Given the description of an element on the screen output the (x, y) to click on. 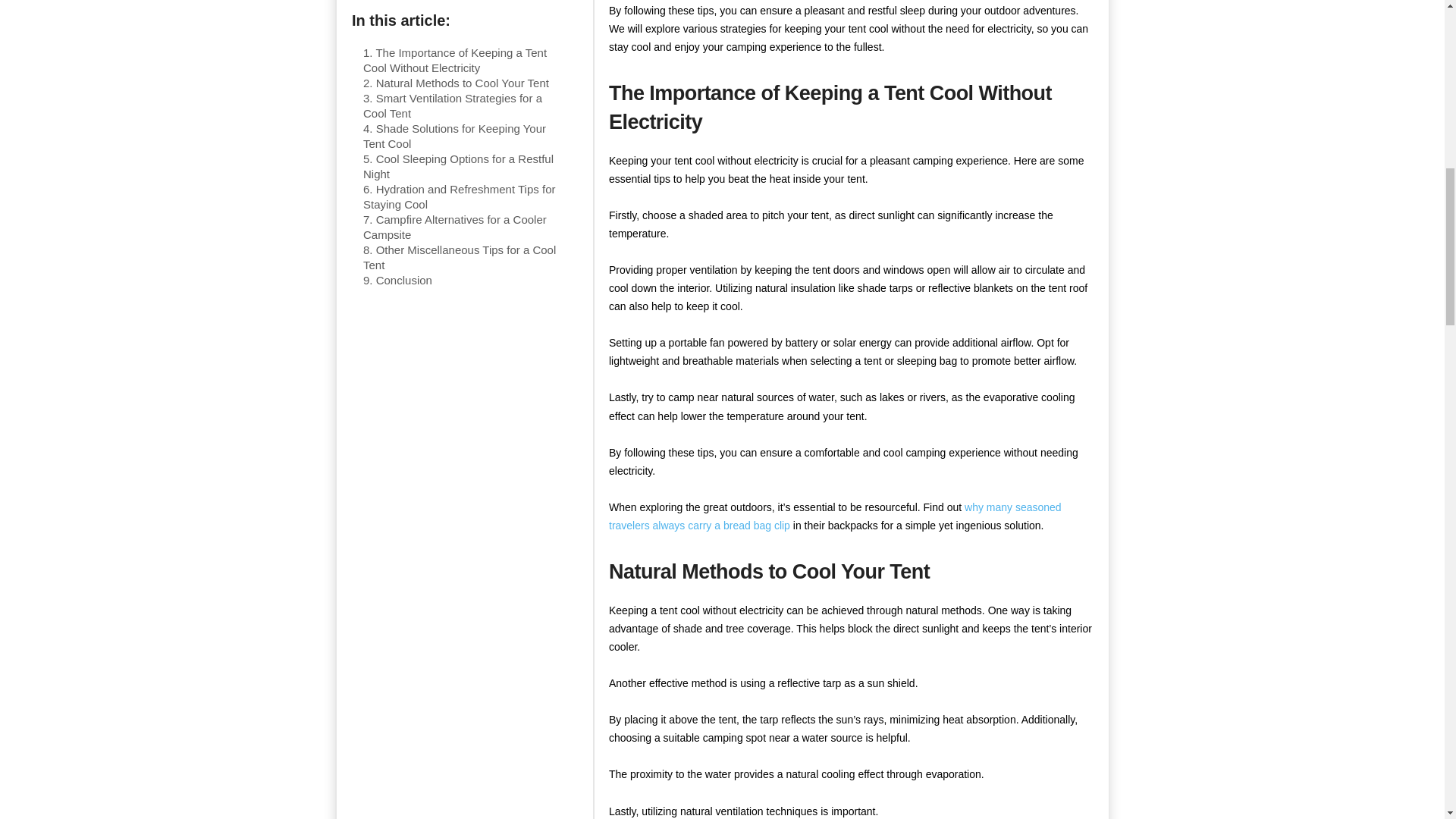
why many seasoned travelers always carry a bread bag clip (834, 516)
